Given the description of an element on the screen output the (x, y) to click on. 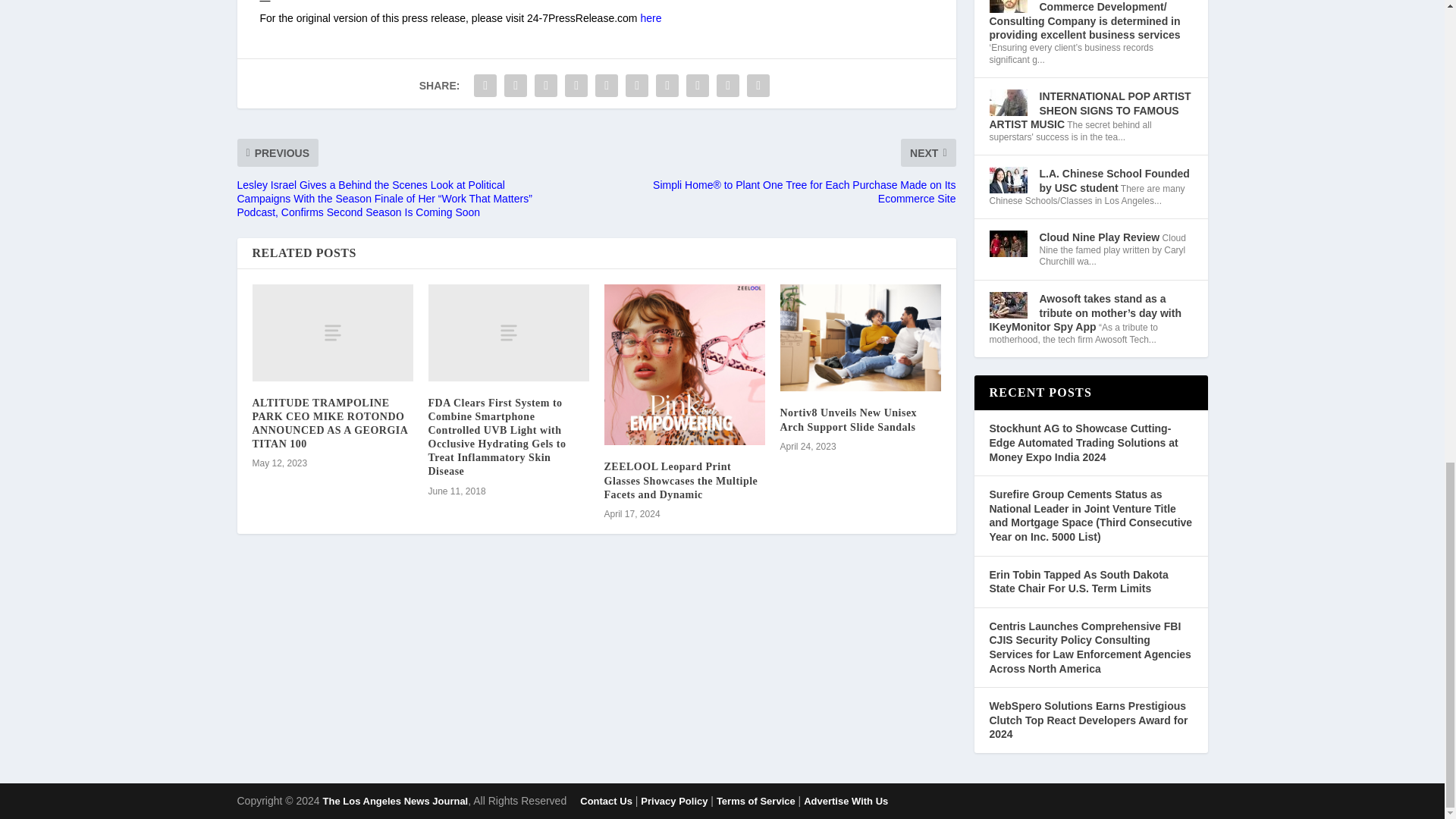
here (650, 18)
